Given the description of an element on the screen output the (x, y) to click on. 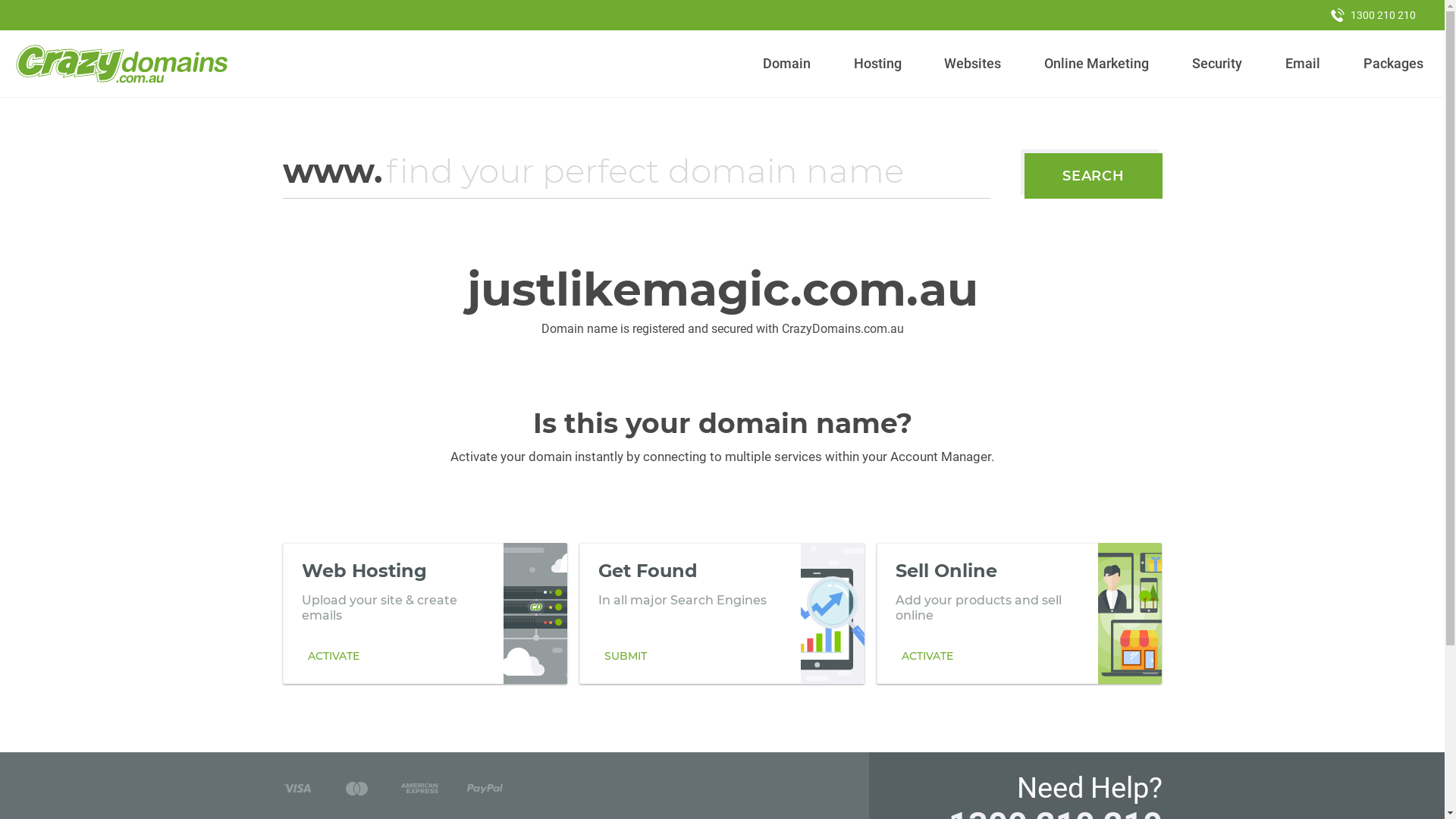
Get Found
In all major Search Engines
SUBMIT Element type: text (721, 613)
Email Element type: text (1302, 63)
Security Element type: text (1217, 63)
Domain Element type: text (786, 63)
1300 210 210 Element type: text (1373, 15)
Online Marketing Element type: text (1096, 63)
Packages Element type: text (1392, 63)
SEARCH Element type: text (1092, 175)
Web Hosting
Upload your site & create emails
ACTIVATE Element type: text (424, 613)
Sell Online
Add your products and sell online
ACTIVATE Element type: text (1018, 613)
Websites Element type: text (972, 63)
Hosting Element type: text (877, 63)
